Given the description of an element on the screen output the (x, y) to click on. 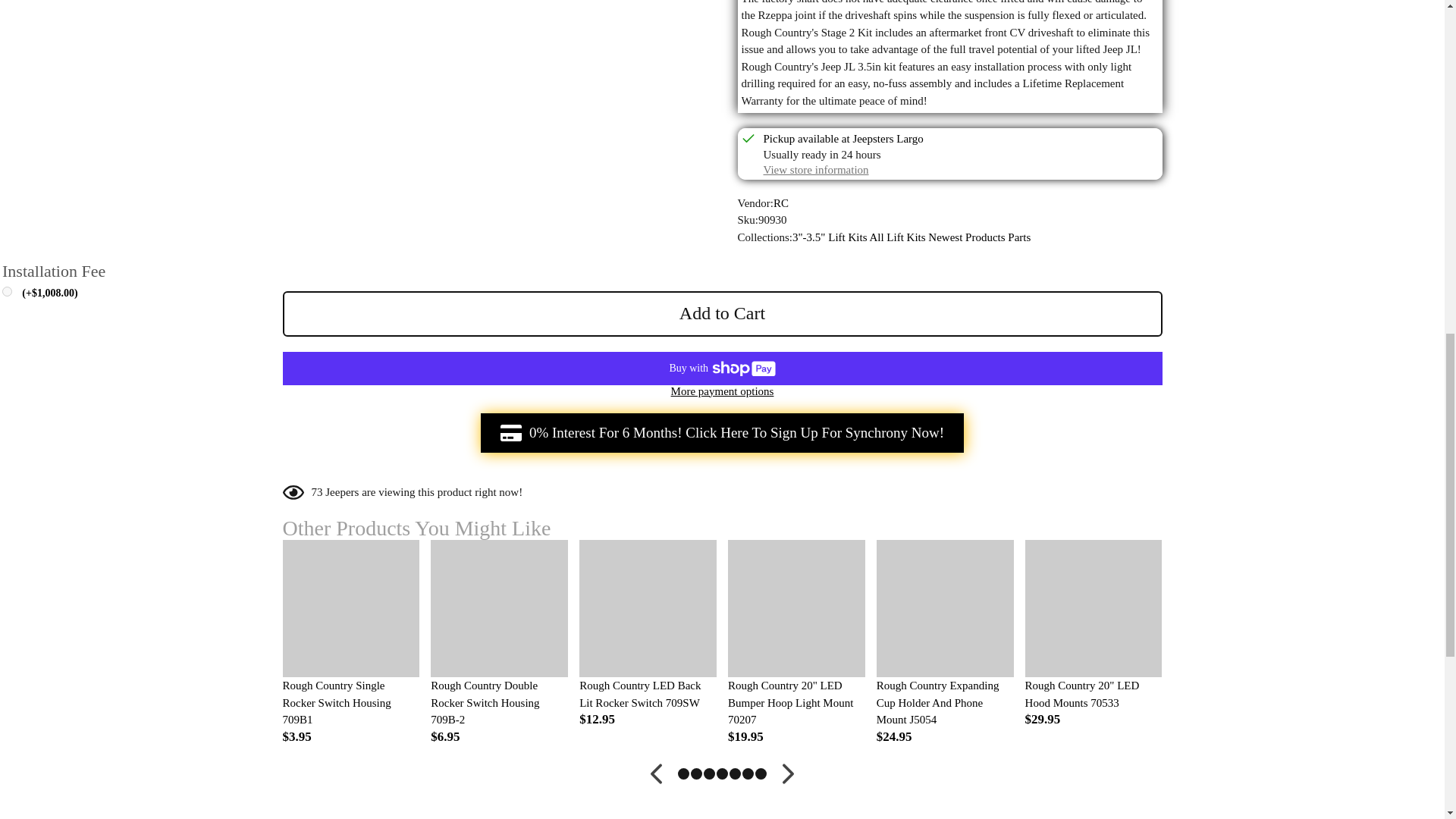
Newest Products (966, 236)
View store information (814, 169)
More payment options (721, 391)
Synchrony Car Care Sign Up (721, 432)
Rough Country Double Rocker Switch Housing 709B-2 (498, 702)
RC (781, 203)
All (876, 236)
Lift Kits (905, 236)
3"-3.5" Lift Kits (829, 236)
Parts (1018, 236)
Lift Kits (905, 236)
Parts (1018, 236)
Add to Cart (721, 313)
Newest Products (966, 236)
Rough Country Single Rocker Switch Housing 709B1 (350, 702)
